Given the description of an element on the screen output the (x, y) to click on. 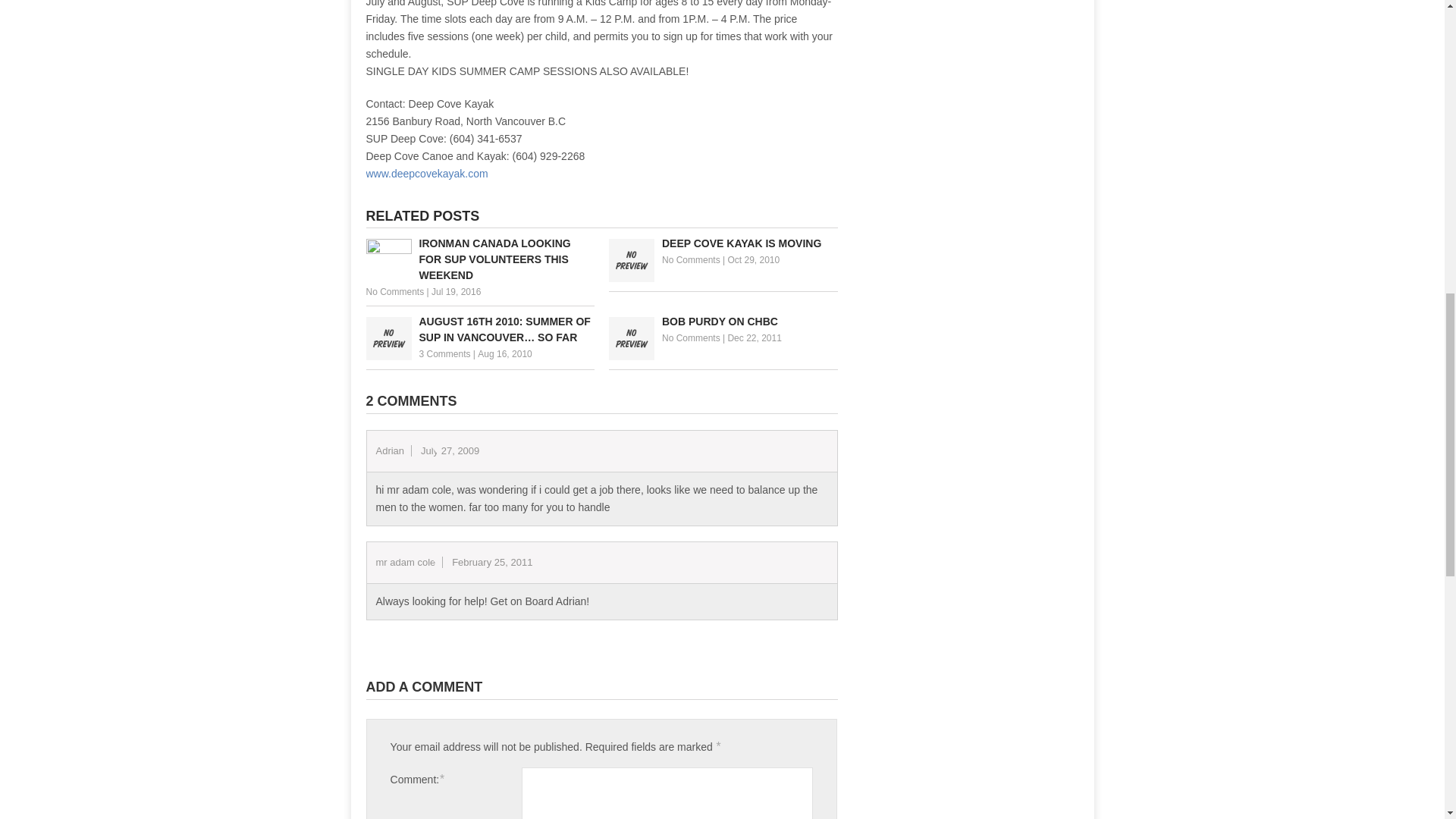
IRONMAN CANADA LOOKING FOR SUP VOLUNTEERS THIS WEEKEND (479, 259)
3 Comments (444, 353)
Ironman Canada looking for SUP volunteers this weekend (479, 259)
No Comments (394, 291)
www.deepcovekayak.com (426, 173)
No Comments (691, 259)
Bob Purdy on CHBC (723, 321)
DEEP COVE KAYAK IS MOVING (723, 243)
Deep Cove Kayak is moving (723, 243)
